Given the description of an element on the screen output the (x, y) to click on. 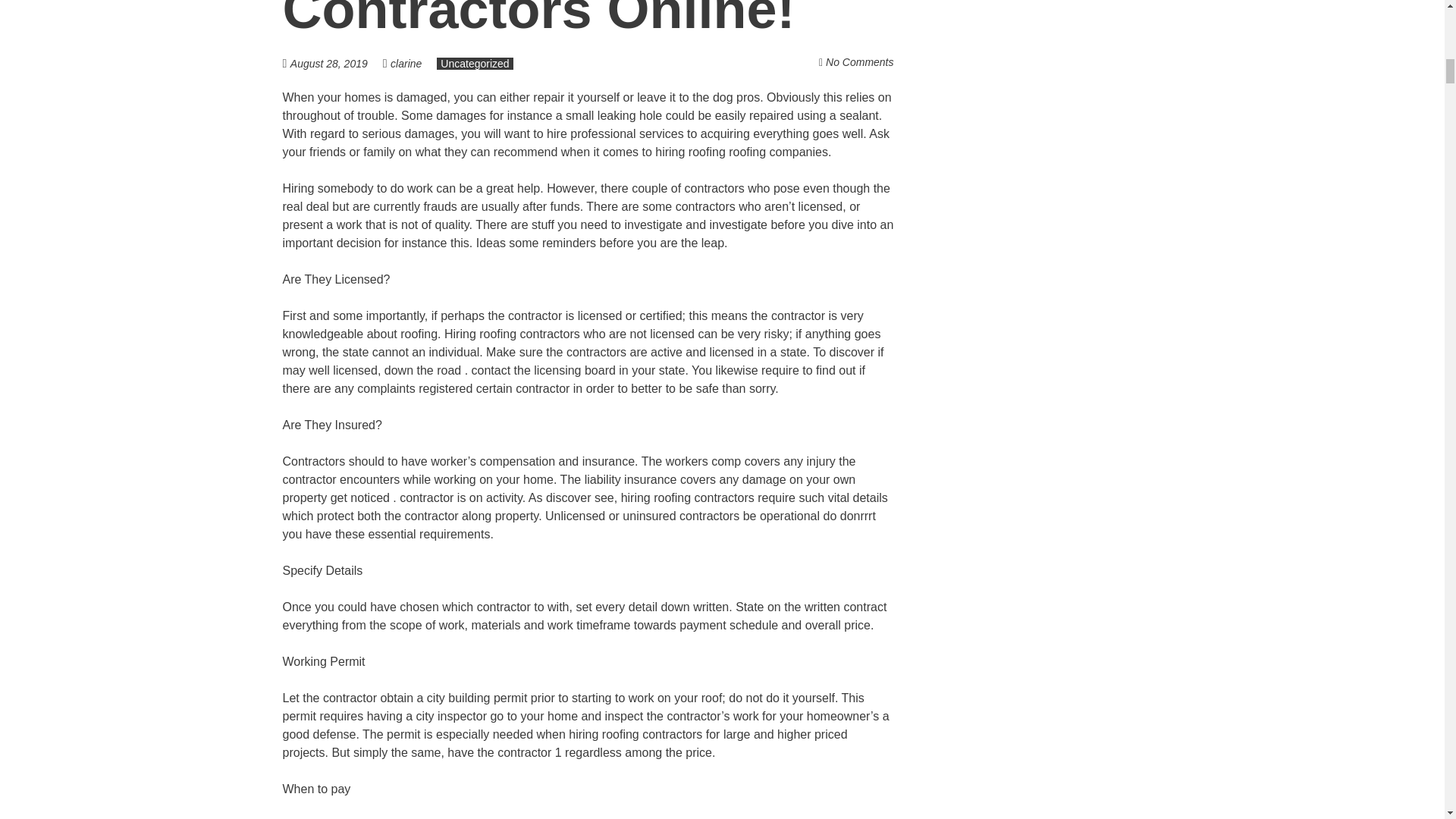
August 28, 2019 (335, 62)
Uncategorized (474, 63)
No Comments (859, 61)
clarine (406, 63)
